Given the description of an element on the screen output the (x, y) to click on. 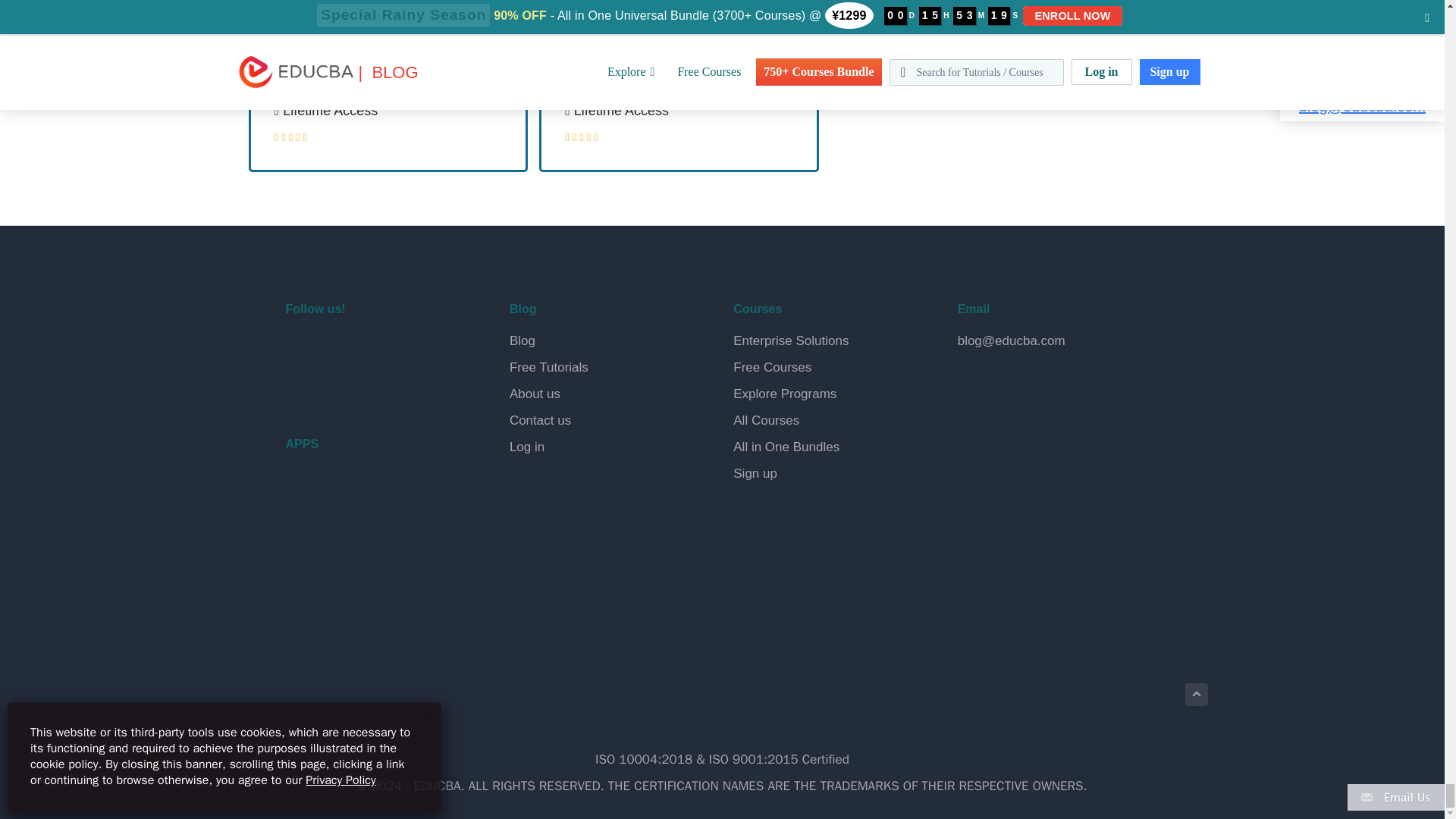
EDUCBA Facebook (300, 349)
EDUCBA Coursera (336, 387)
EDUCBA iOS App (360, 562)
EDUCBA Instagram (408, 349)
EDUCBA Twitter (336, 349)
EDUCBA Android App (360, 498)
EDUCBA LinkedIN (371, 349)
EDUCBA Udemy (371, 387)
EDUCBA Youtube (300, 387)
